Given the description of an element on the screen output the (x, y) to click on. 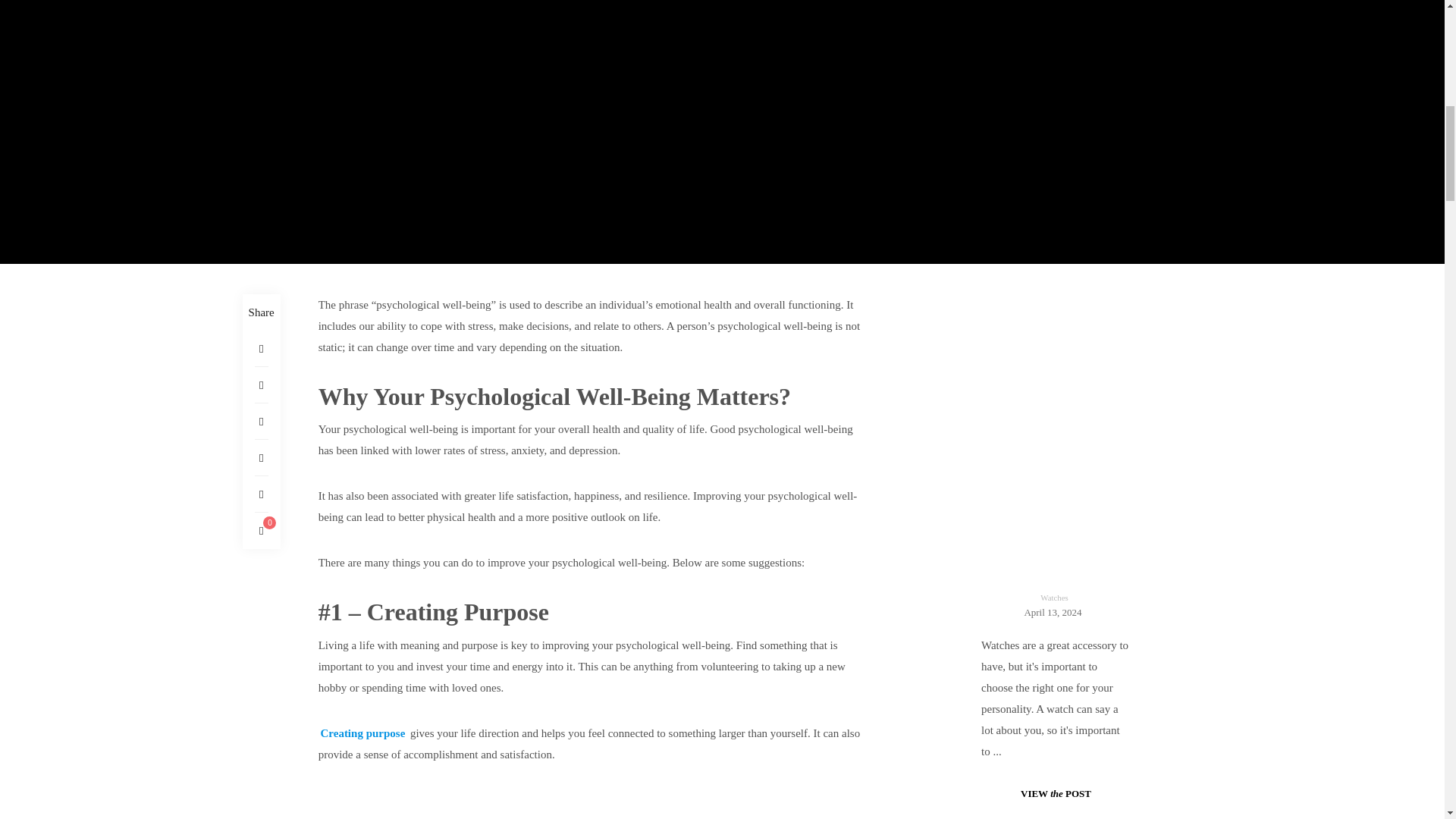
Like this (261, 530)
